Given the description of an element on the screen output the (x, y) to click on. 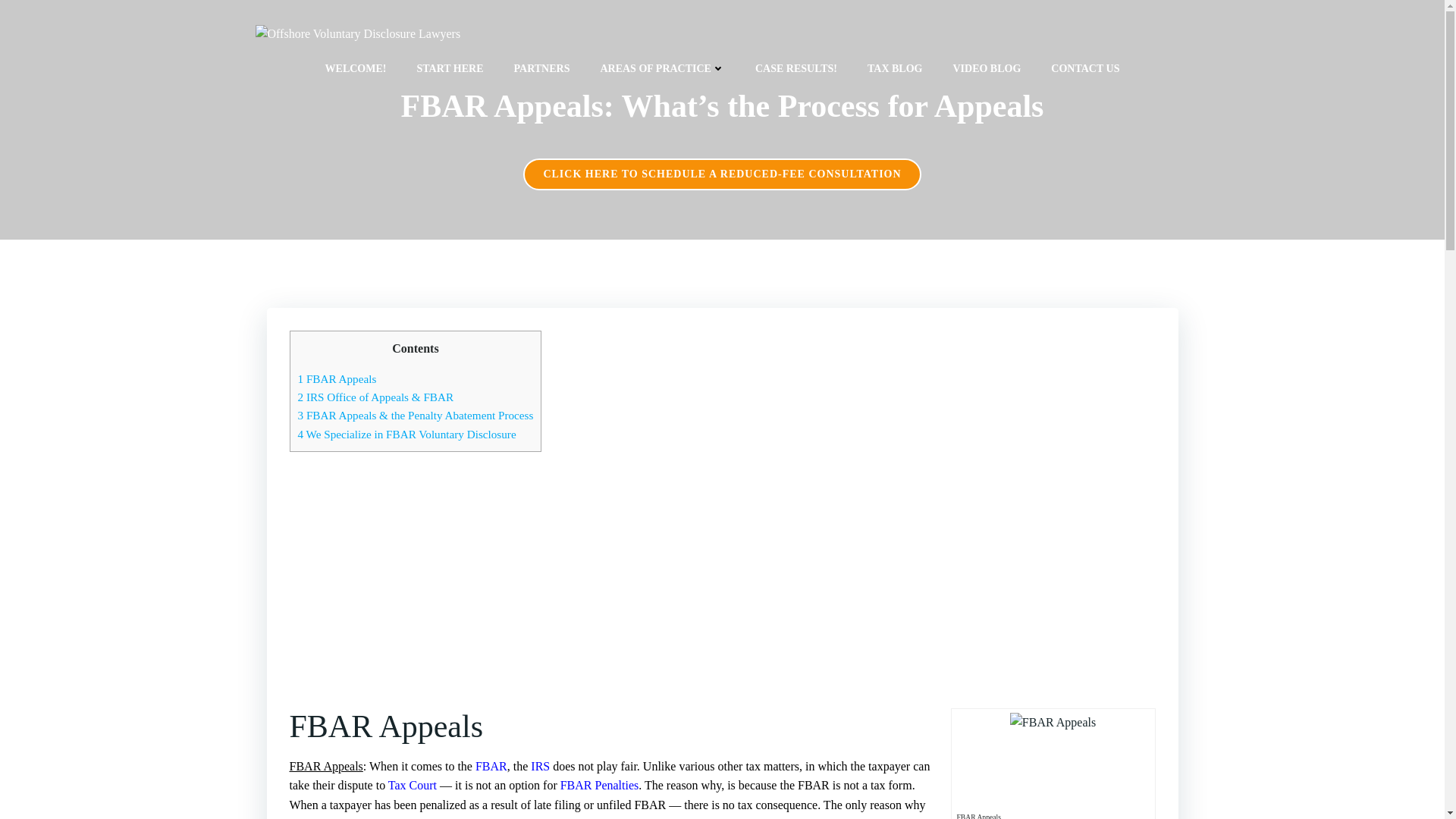
WELCOME! (355, 68)
YouTube video player (721, 582)
START HERE (449, 68)
CASE RESULTS! (796, 68)
CONTACT US (1085, 68)
TAX BLOG (894, 68)
VIDEO BLOG (986, 68)
PARTNERS (541, 68)
AREAS OF PRACTICE (662, 68)
